Given the description of an element on the screen output the (x, y) to click on. 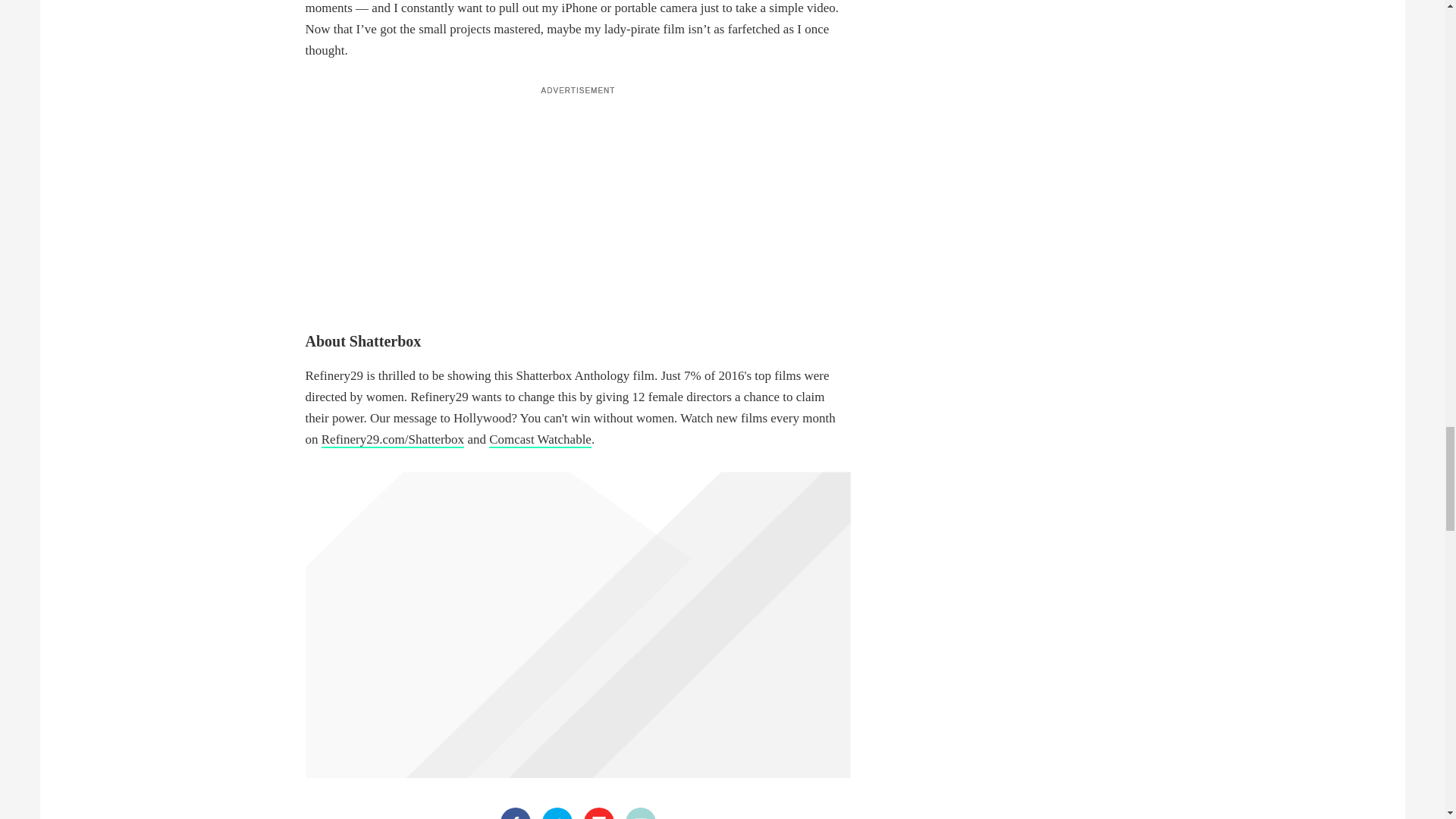
Share on Twitter (556, 813)
Share on Facebook (515, 813)
Comcast Watchable (540, 439)
Share by Email (641, 813)
Share on Flipboard (598, 813)
